Given the description of an element on the screen output the (x, y) to click on. 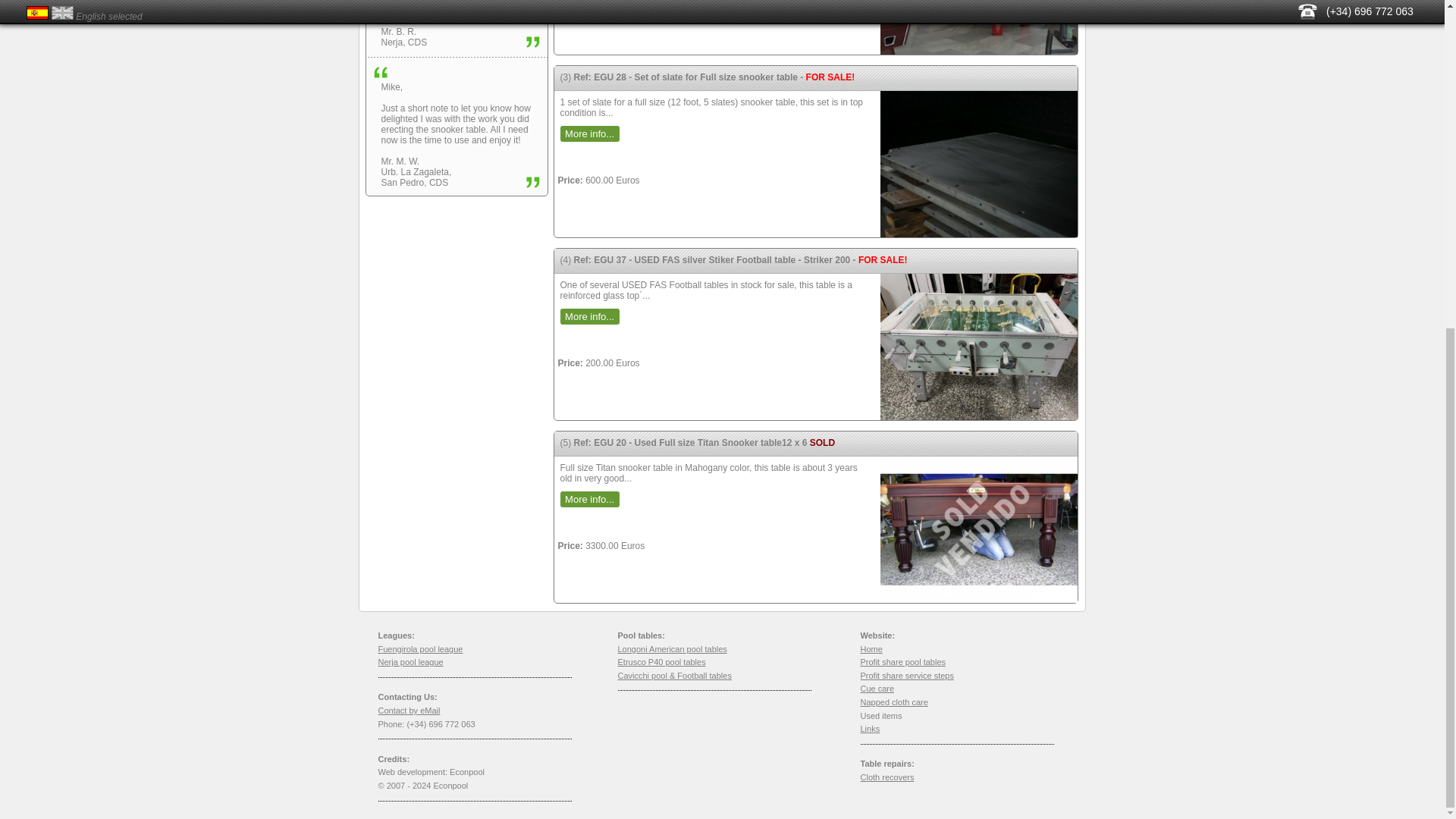
Home (871, 648)
Fuengirola pool league (420, 648)
Cue care (876, 687)
Contact by eMail (408, 709)
Profit share service steps (906, 675)
Longoni American pool tables (671, 648)
Profit share pool tables (902, 661)
Click to enlarge image in a lightbox. (978, 346)
Nerja pool league (409, 661)
Click to enlarge image in a lightbox. (978, 529)
Click to enlarge image in a lightbox. (978, 27)
Napped cloth care (893, 701)
Links (869, 728)
Cloth recovers (887, 777)
Click to enlarge image in a lightbox. (978, 163)
